Given the description of an element on the screen output the (x, y) to click on. 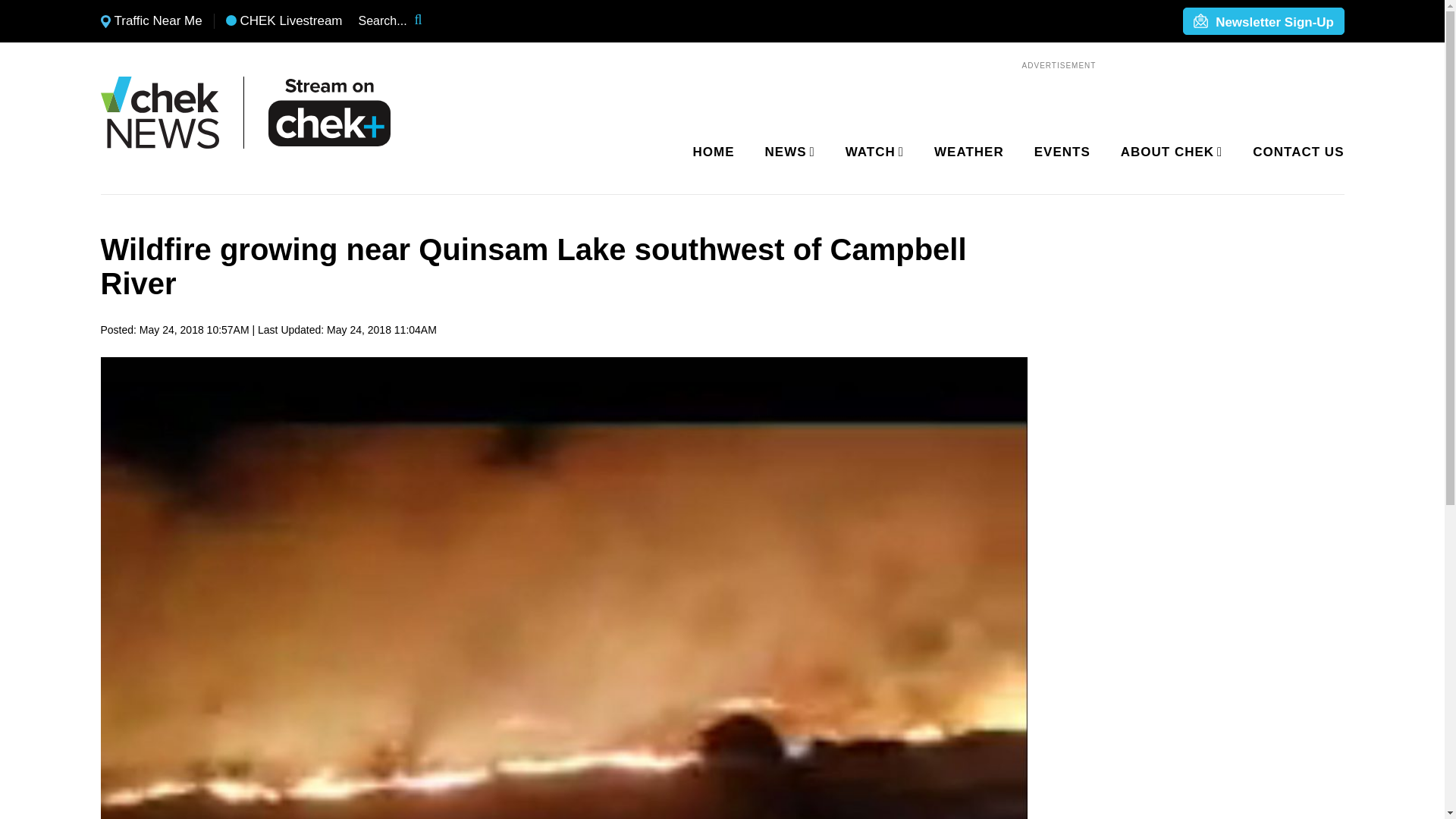
Traffic Near Me (151, 20)
NEWS (787, 152)
HOME (714, 152)
Newsletter Sign-Up (1262, 22)
Search (428, 21)
CHEK Livestream (283, 20)
